Given the description of an element on the screen output the (x, y) to click on. 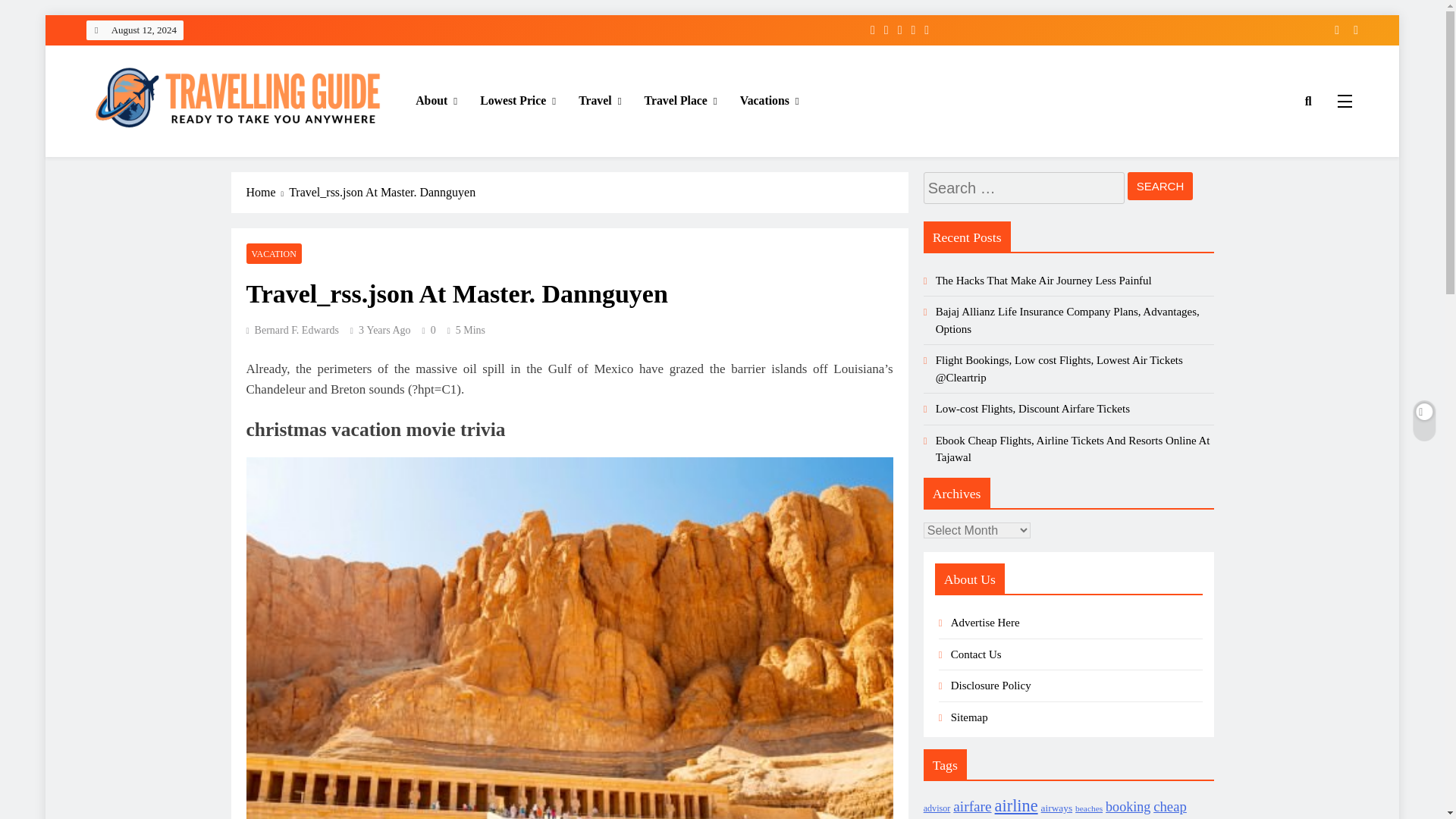
Travelling Guide (170, 158)
Search (1159, 185)
Travel Place (681, 101)
About (436, 101)
Travel (599, 101)
Vacations (769, 101)
Search (1159, 185)
Lowest Price (517, 101)
